Given the description of an element on the screen output the (x, y) to click on. 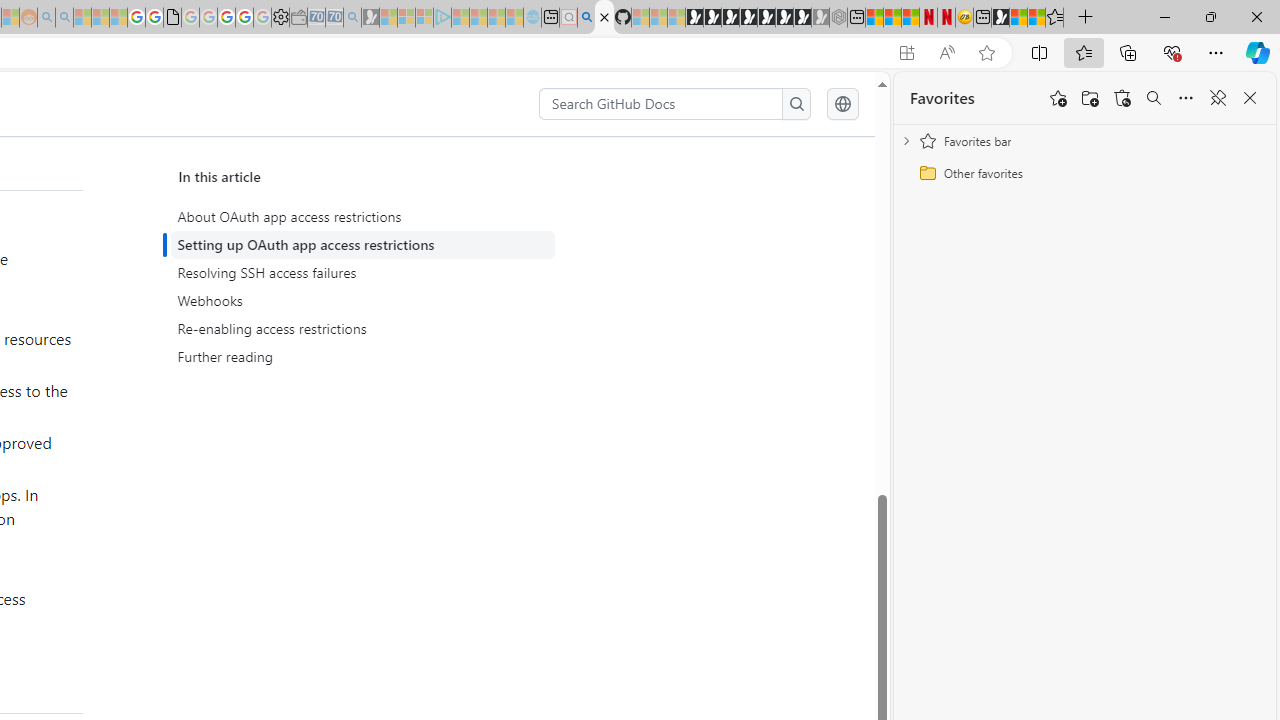
About OAuth app access restrictions - GitHub Docs (604, 17)
Re-enabling access restrictions (362, 328)
Unpin favorites (1217, 98)
github - Search (586, 17)
Setting up OAuth app access restrictions (365, 245)
Close favorites (1250, 98)
